Given the description of an element on the screen output the (x, y) to click on. 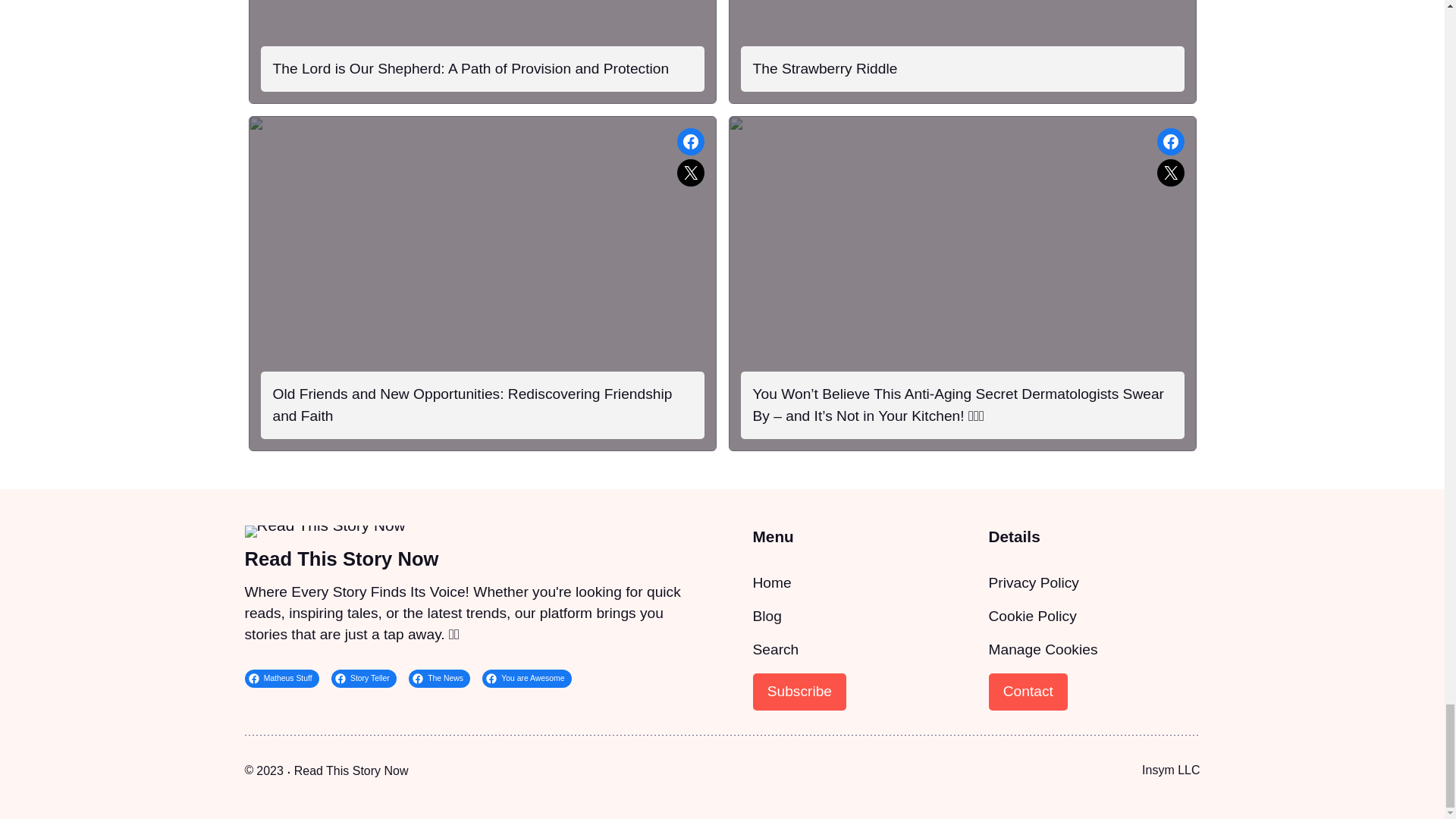
The Strawberry Riddle (824, 68)
Facebook (1171, 141)
You are Awesome (526, 678)
X (690, 172)
Subscribe (798, 691)
Cookie Policy (1032, 616)
Home (771, 582)
Insym LLC (1170, 769)
Read This Story Now (351, 770)
Facebook (690, 141)
Contact (1028, 691)
Privacy Policy (1033, 582)
X (1171, 172)
Search (774, 649)
